Given the description of an element on the screen output the (x, y) to click on. 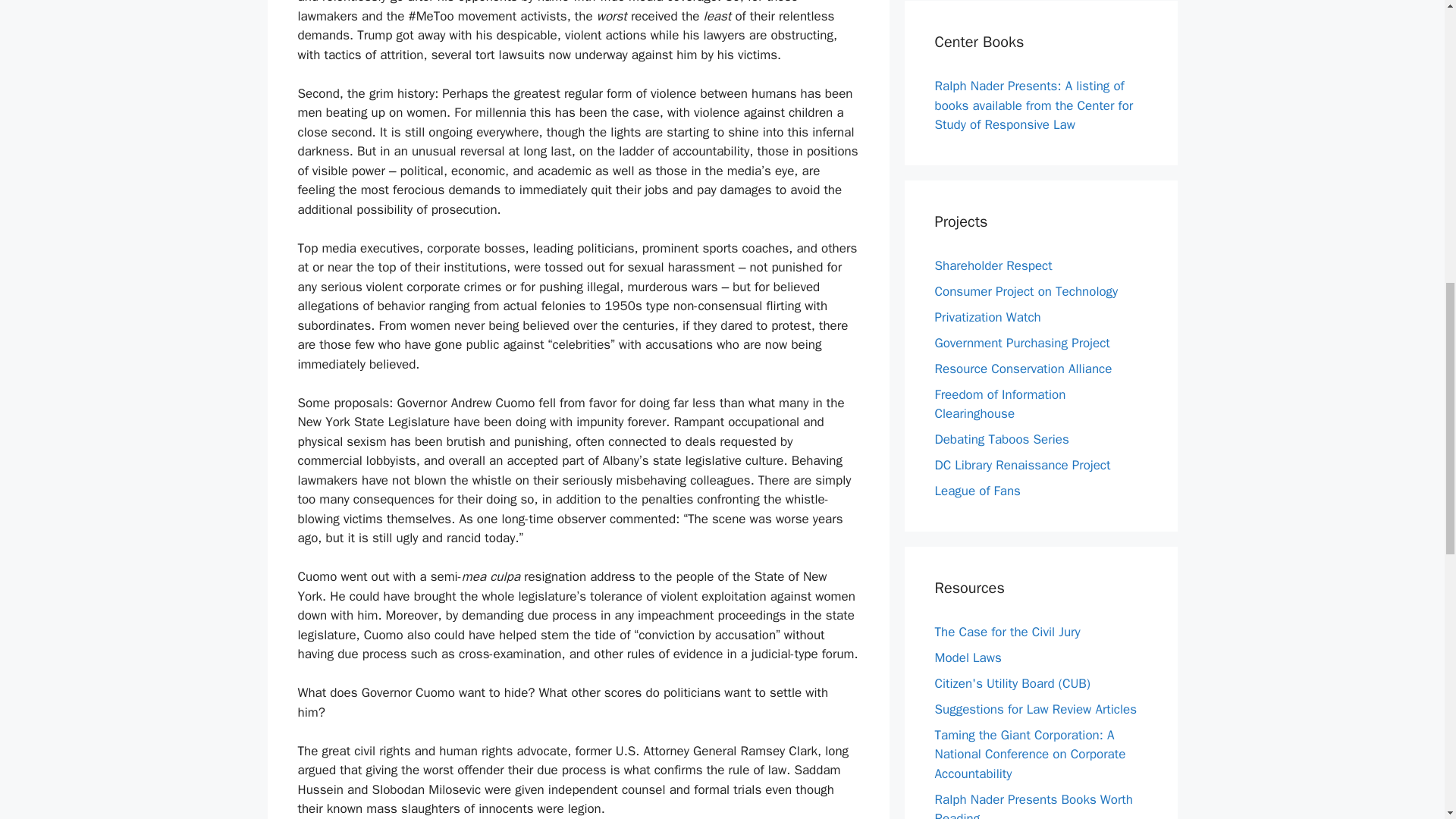
Shareholder Respect (992, 265)
The Case for the Civil Jury (1007, 631)
Consumer Project on Technology (1026, 291)
Suggestions for Law Review Articles (1035, 708)
Ralph Nader Presents Books Worth Reading (1033, 805)
Debating Taboos Series (1001, 439)
DC Library Renaissance Project (1021, 465)
Freedom of Information Clearinghouse (999, 404)
League of Fans (977, 490)
